Given the description of an element on the screen output the (x, y) to click on. 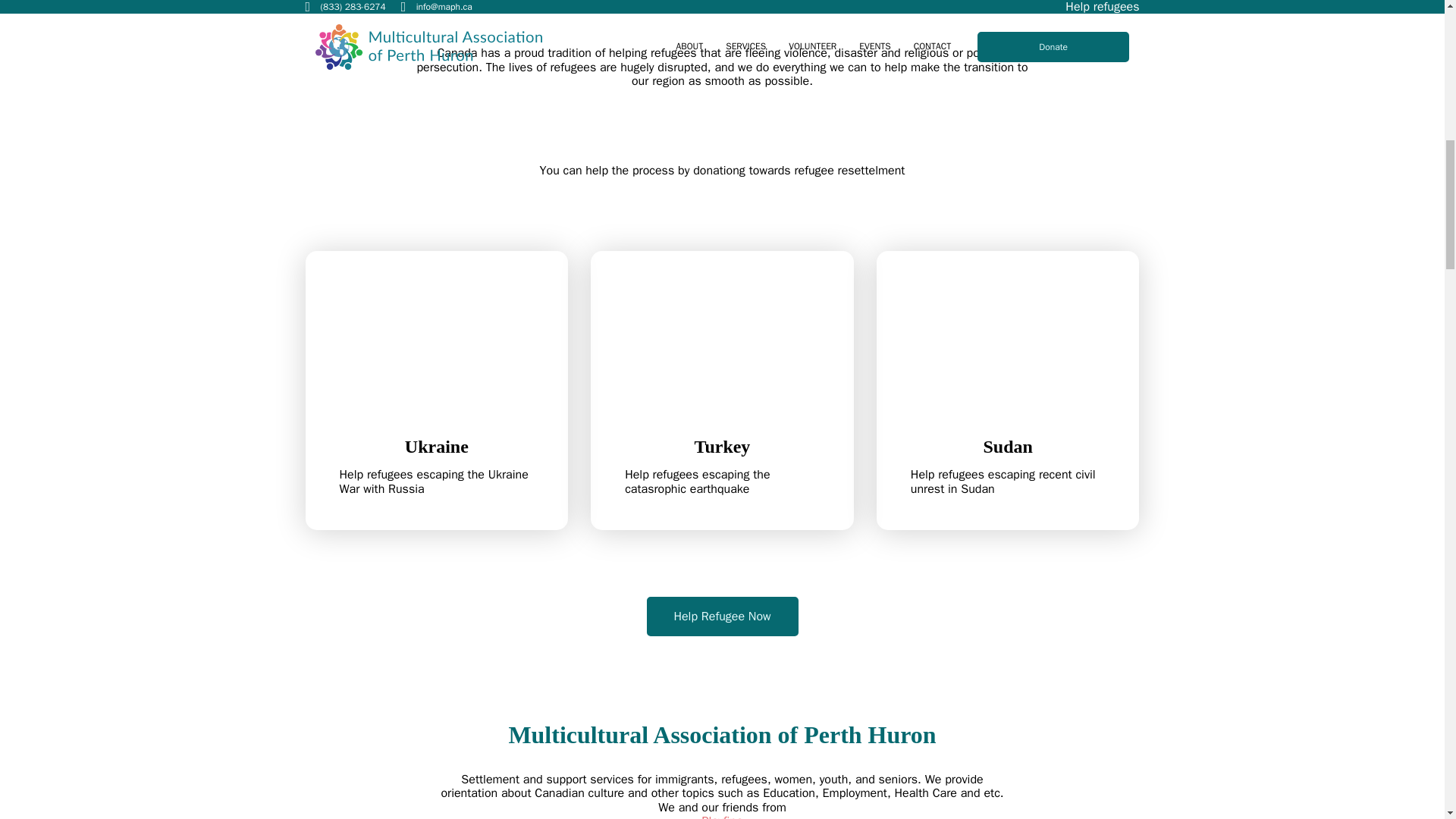
Help Refugee Now (435, 389)
Playfina (721, 616)
